Given the description of an element on the screen output the (x, y) to click on. 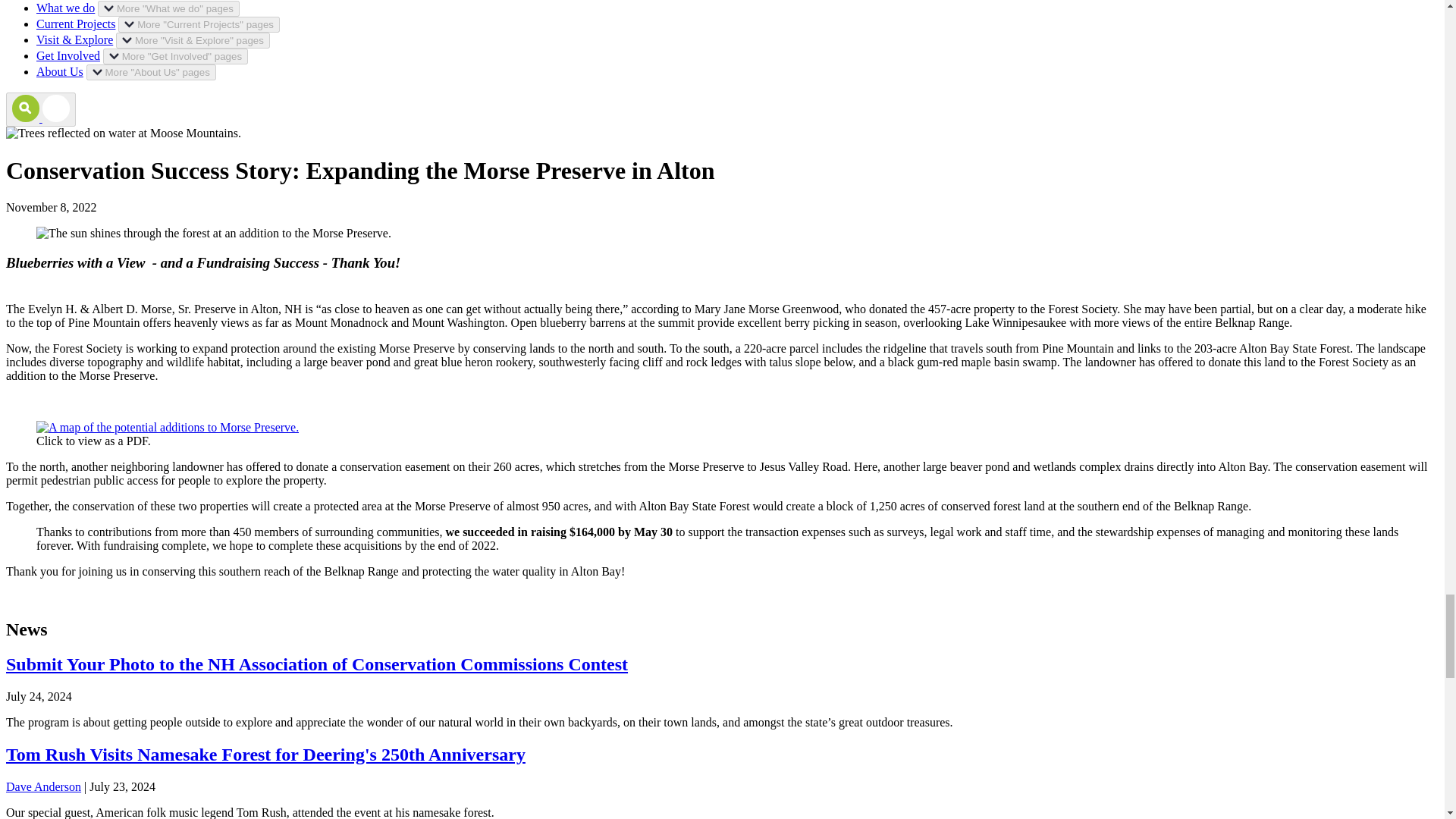
Open search (40, 109)
More "What we do" pages (168, 8)
Current Projects (75, 23)
More "Current Projects" pages (198, 24)
What we do (65, 7)
